Given the description of an element on the screen output the (x, y) to click on. 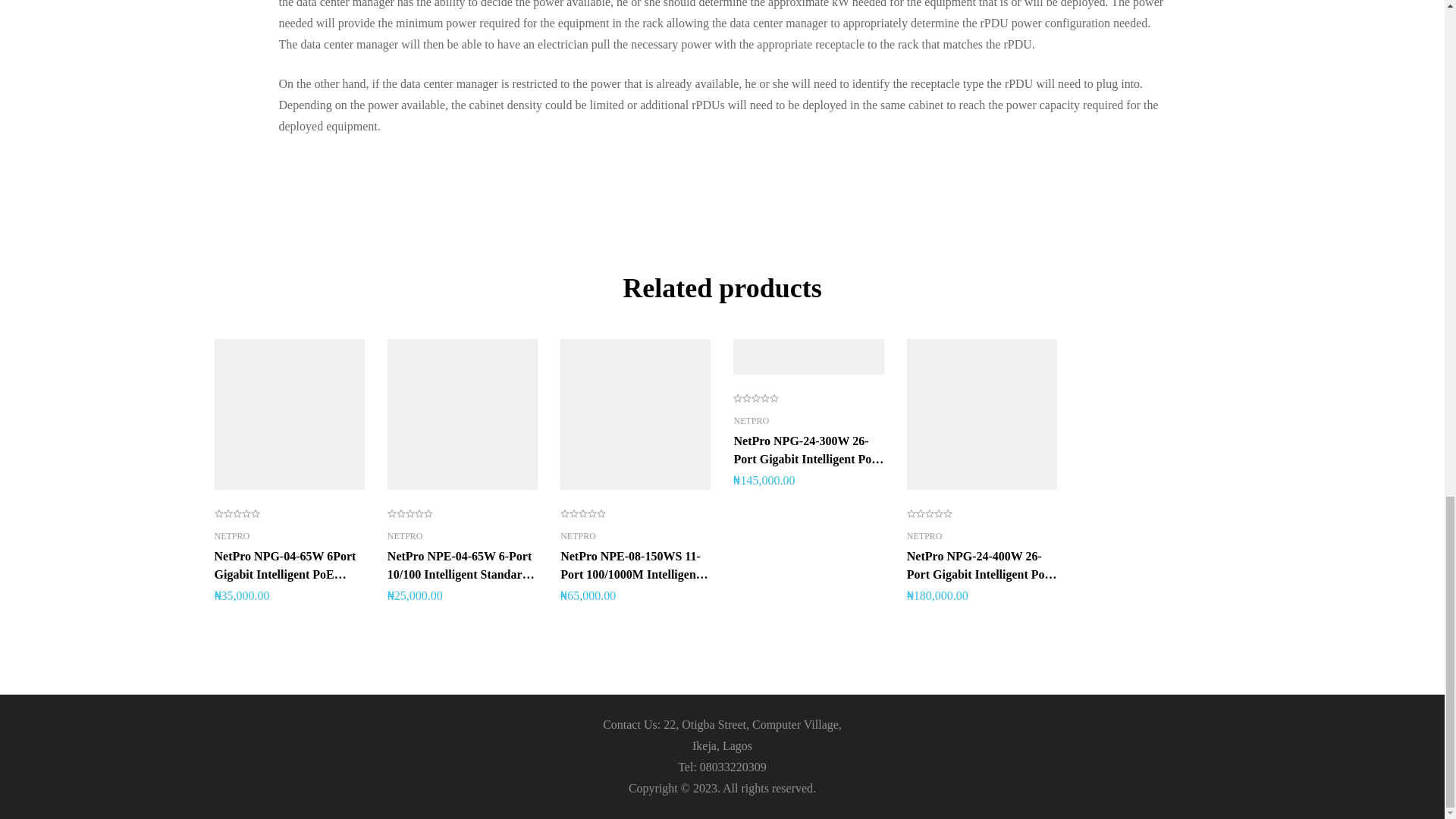
NETPRO (577, 535)
NETPRO (231, 535)
NETPRO (405, 535)
NETPRO (750, 420)
